Given the description of an element on the screen output the (x, y) to click on. 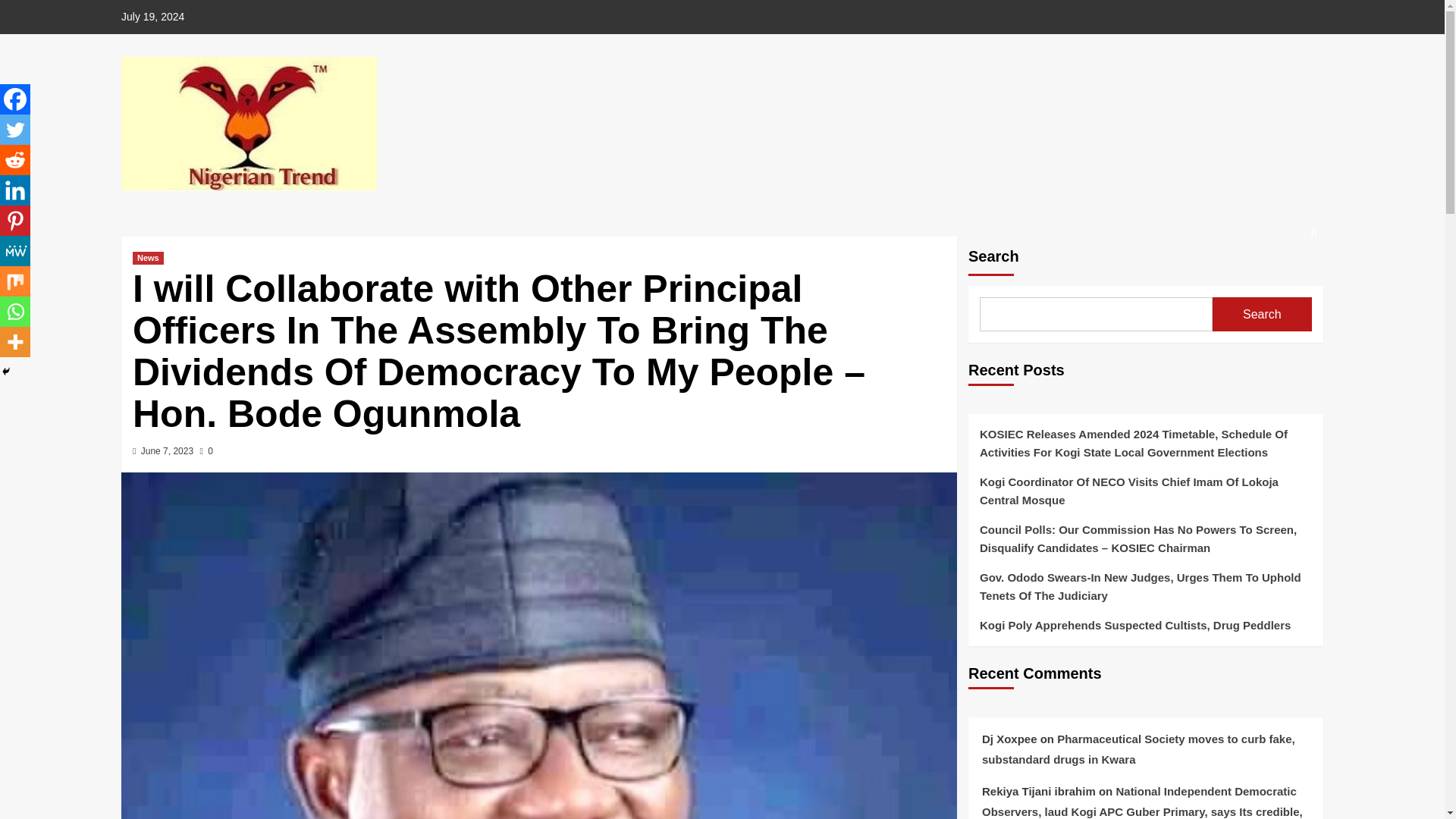
Twitter (15, 129)
June 7, 2023 (167, 450)
0 (205, 450)
Reddit (15, 159)
Linkedin (15, 190)
Search (1278, 279)
News (147, 257)
Pinterest (15, 220)
Facebook (15, 99)
